Given the description of an element on the screen output the (x, y) to click on. 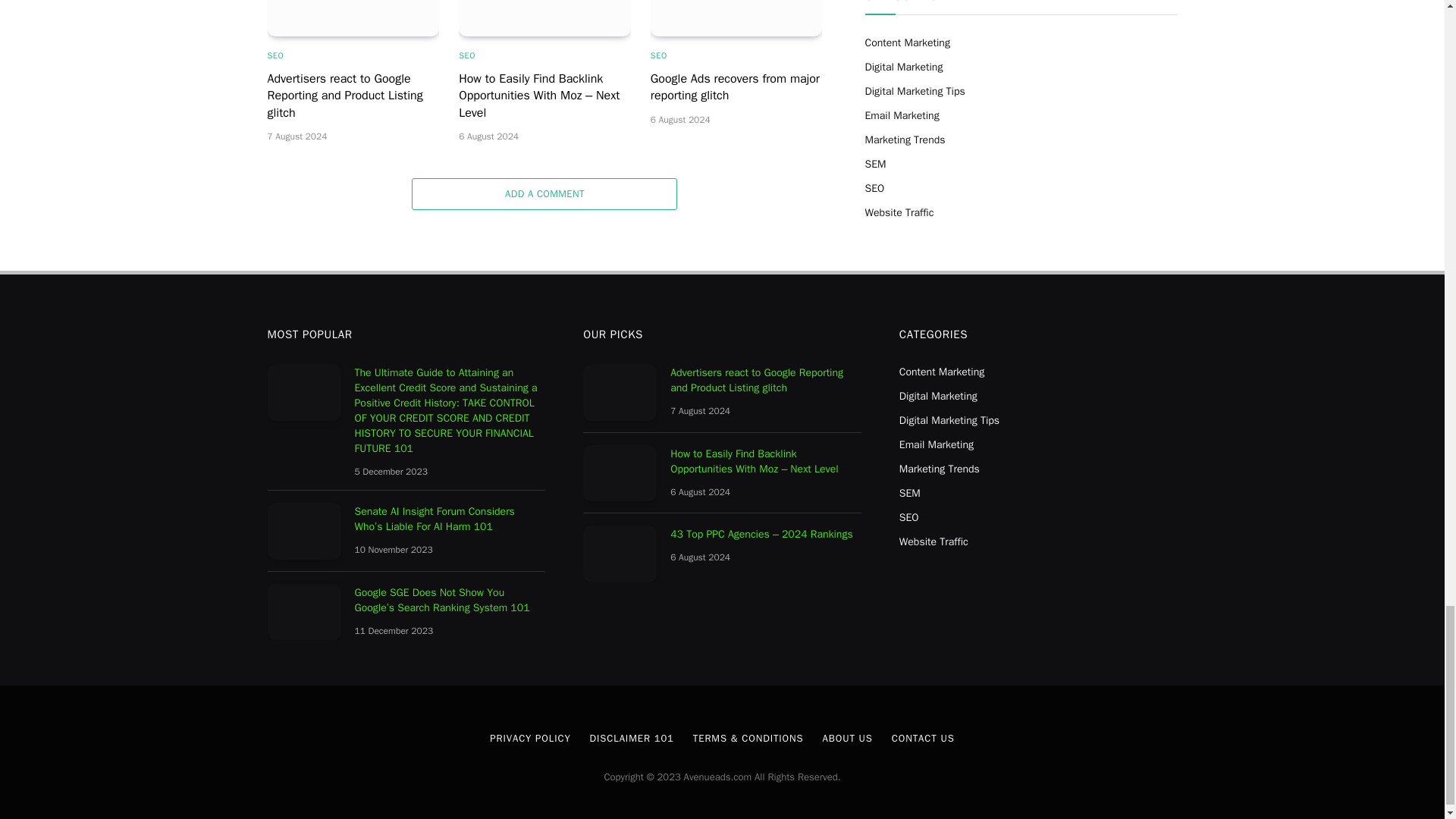
Google Ads recovers from major reporting glitch (736, 18)
SEO (467, 55)
SEO (274, 55)
